Given the description of an element on the screen output the (x, y) to click on. 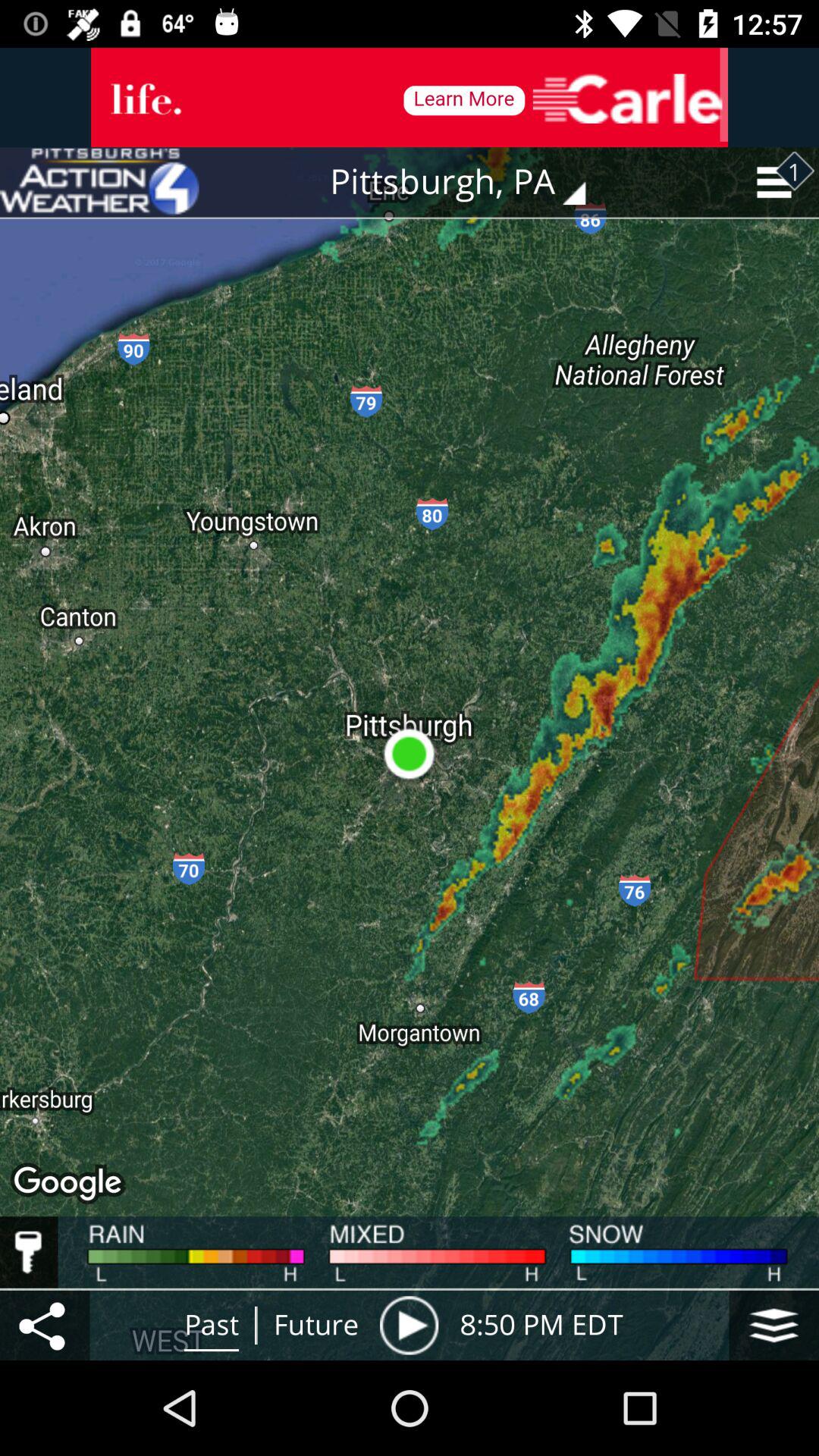
radar replay (409, 1325)
